Given the description of an element on the screen output the (x, y) to click on. 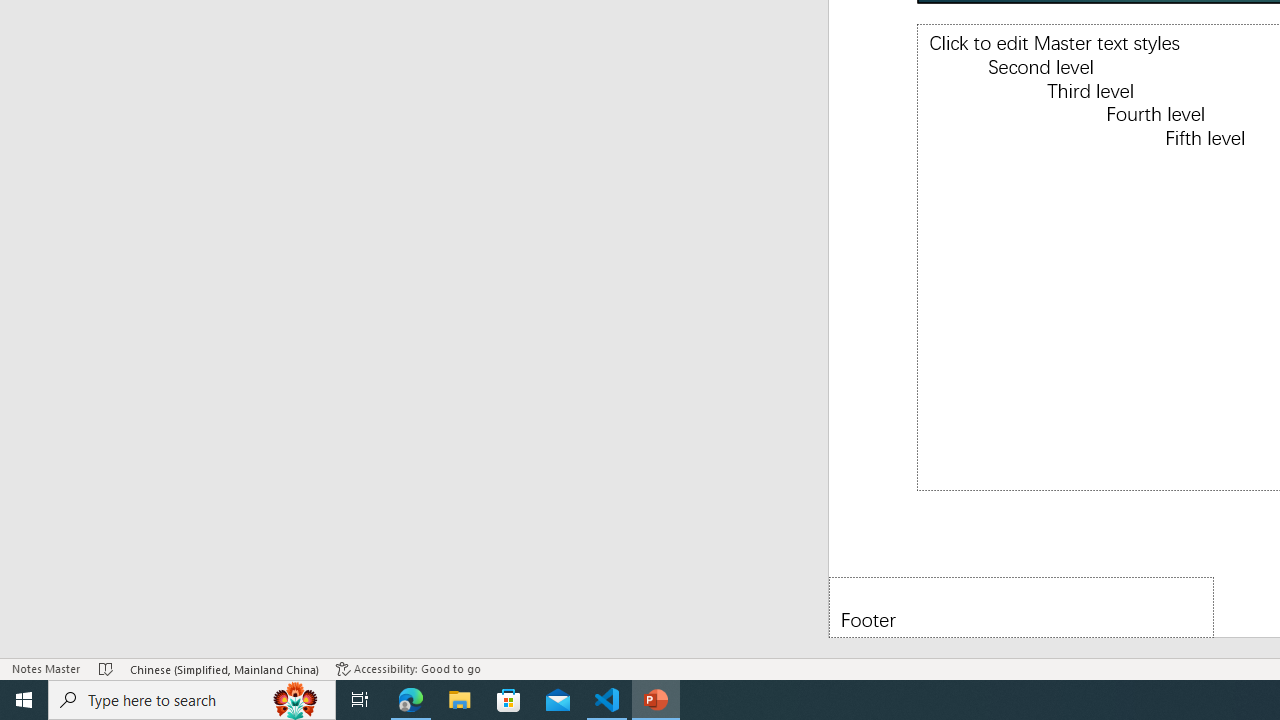
Footer (1021, 606)
Accessibility Checker Accessibility: Good to go (407, 668)
